Given the description of an element on the screen output the (x, y) to click on. 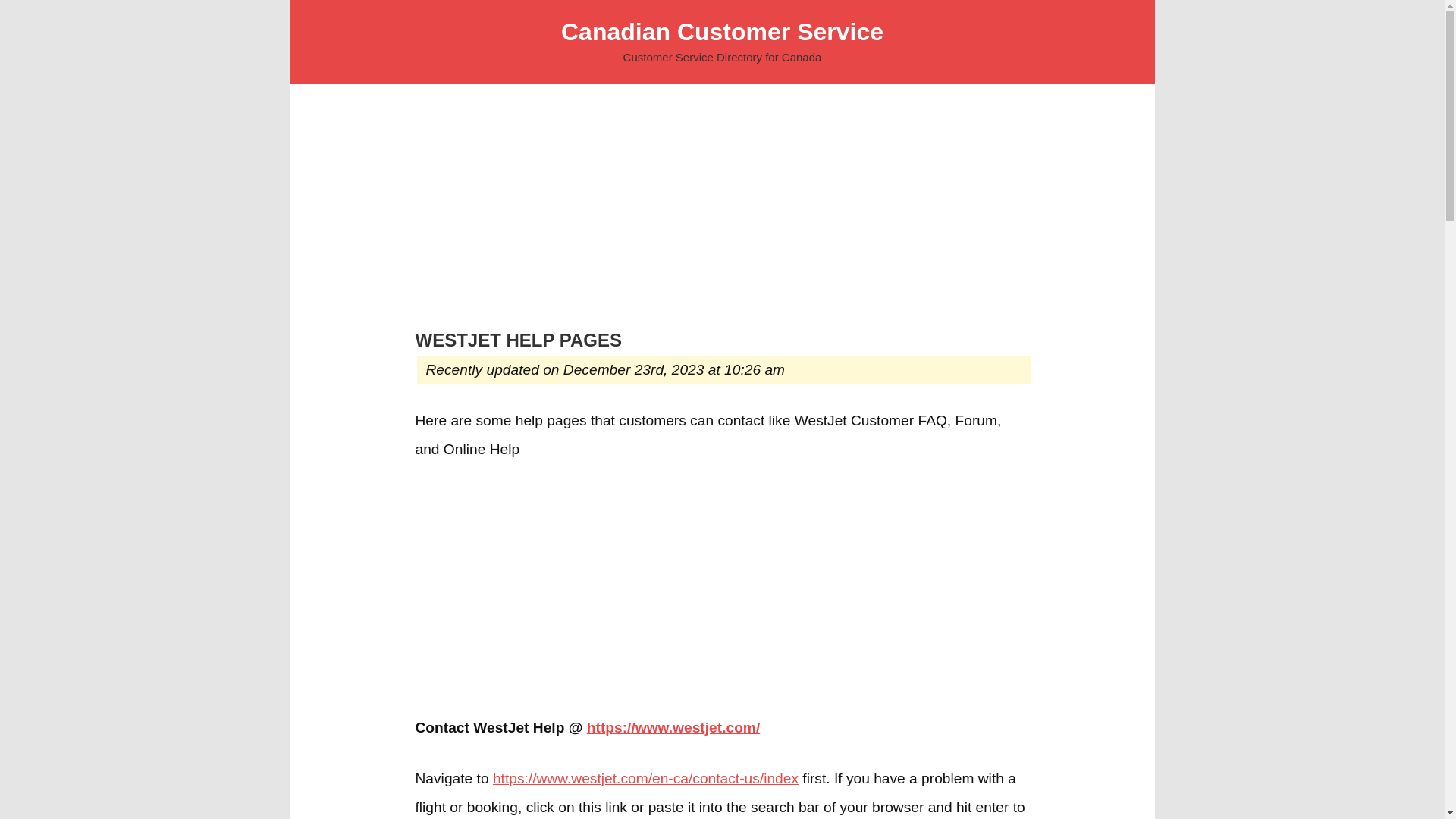
Canadian Customer Service (721, 31)
Advertisement (721, 216)
Advertisement (721, 592)
